Given the description of an element on the screen output the (x, y) to click on. 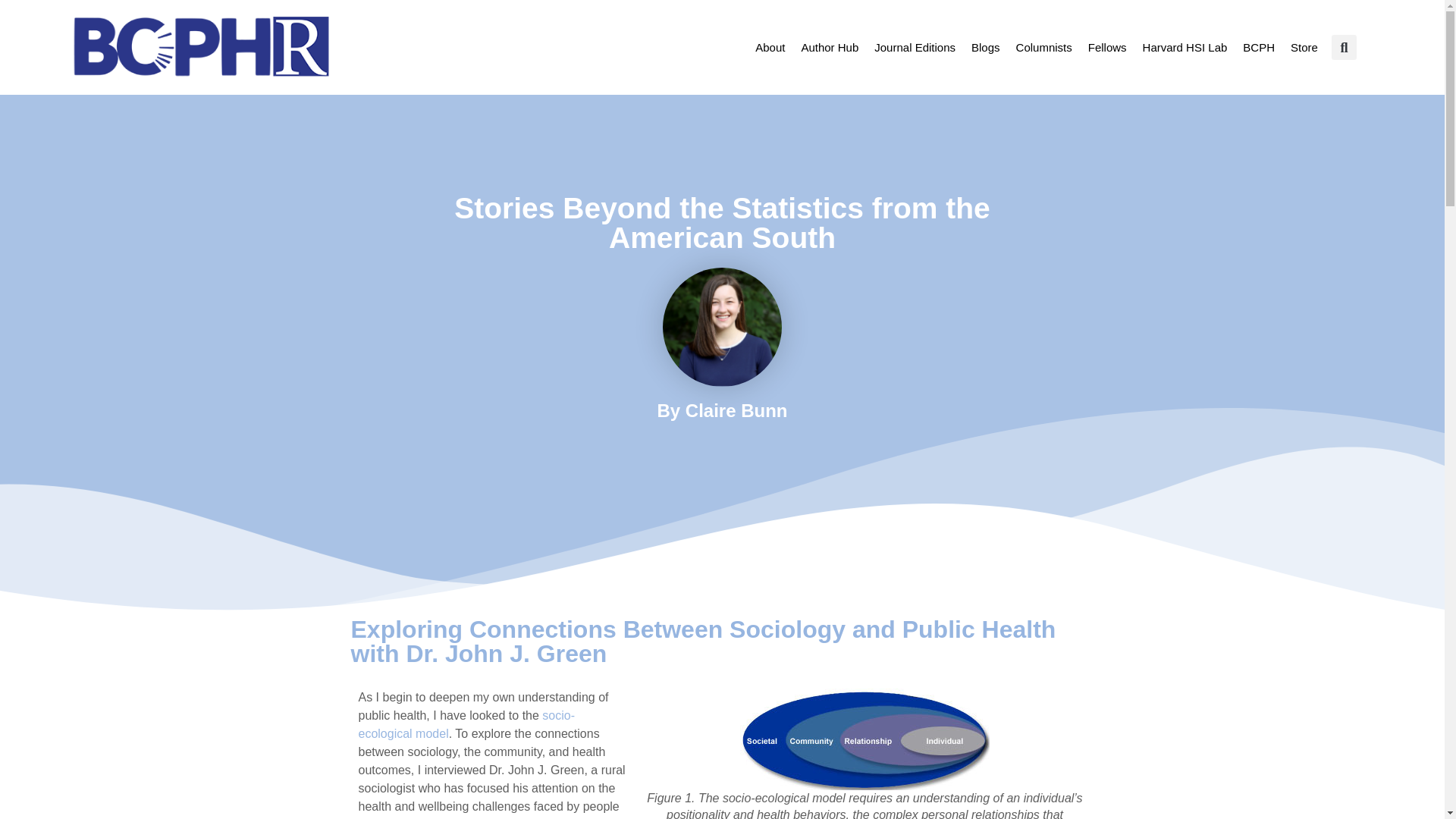
Journal Editions (914, 47)
Store (1304, 47)
BCPH (1258, 47)
Columnists (1043, 47)
About (770, 47)
Fellows (1107, 47)
Harvard HSI Lab (1184, 47)
Author Hub (828, 47)
Blogs (985, 47)
